Given the description of an element on the screen output the (x, y) to click on. 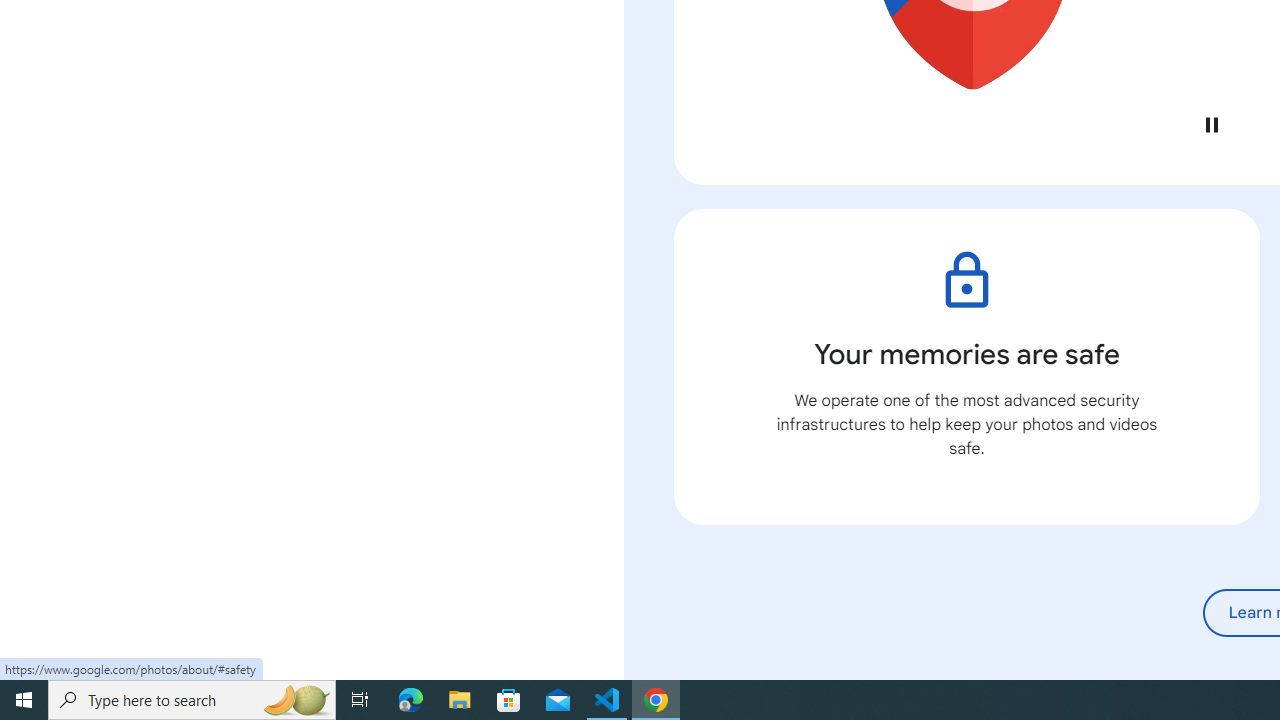
Padlock icon indicating security.  (966, 280)
Play video (1211, 124)
